Given the description of an element on the screen output the (x, y) to click on. 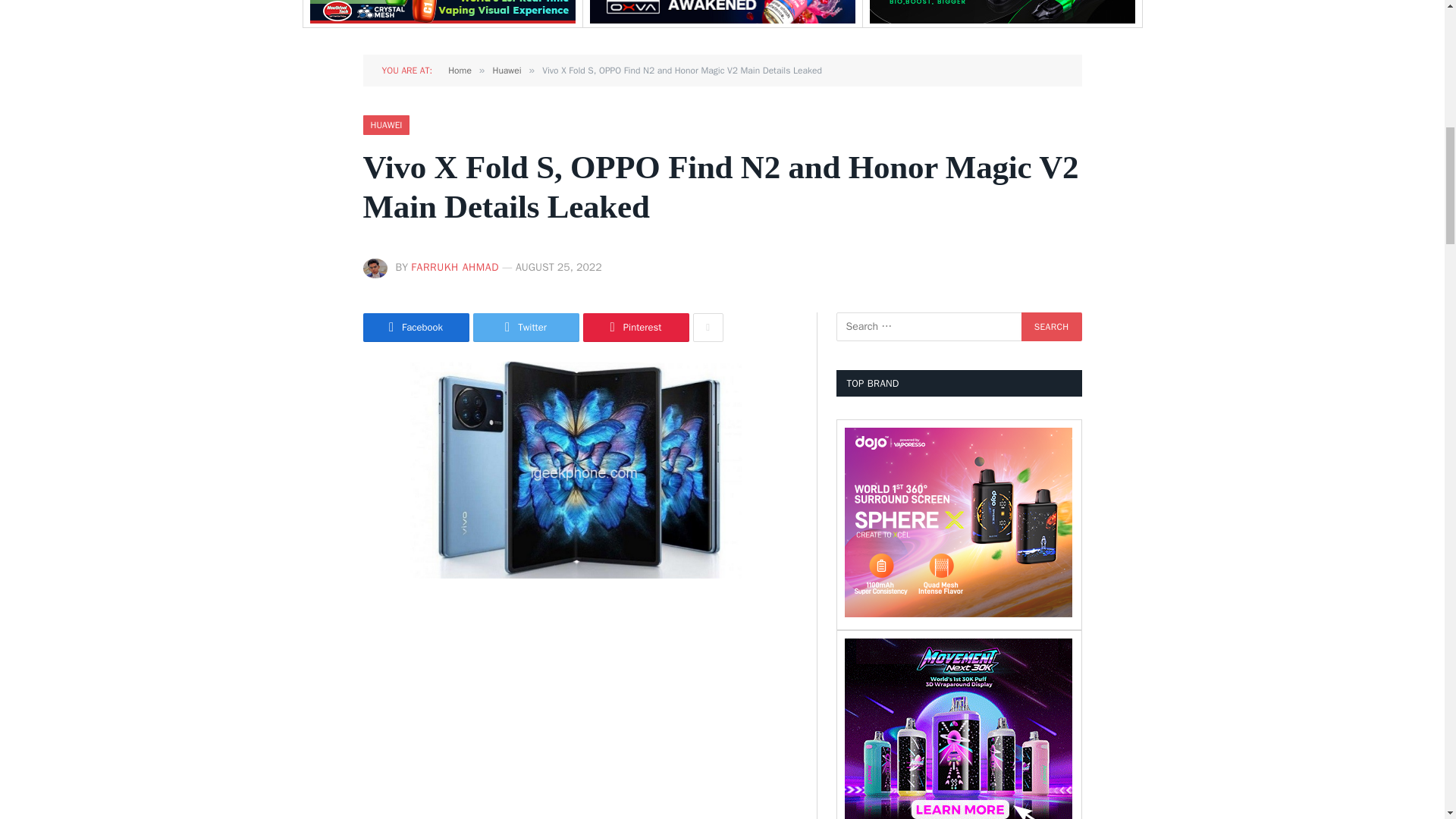
Share on Twitter (526, 327)
Search (1051, 326)
Posts by Farrukh Ahmad (454, 267)
Share on Pinterest (635, 327)
Share on Facebook (415, 327)
Show More Social Sharing (708, 327)
Search (1051, 326)
